Given the description of an element on the screen output the (x, y) to click on. 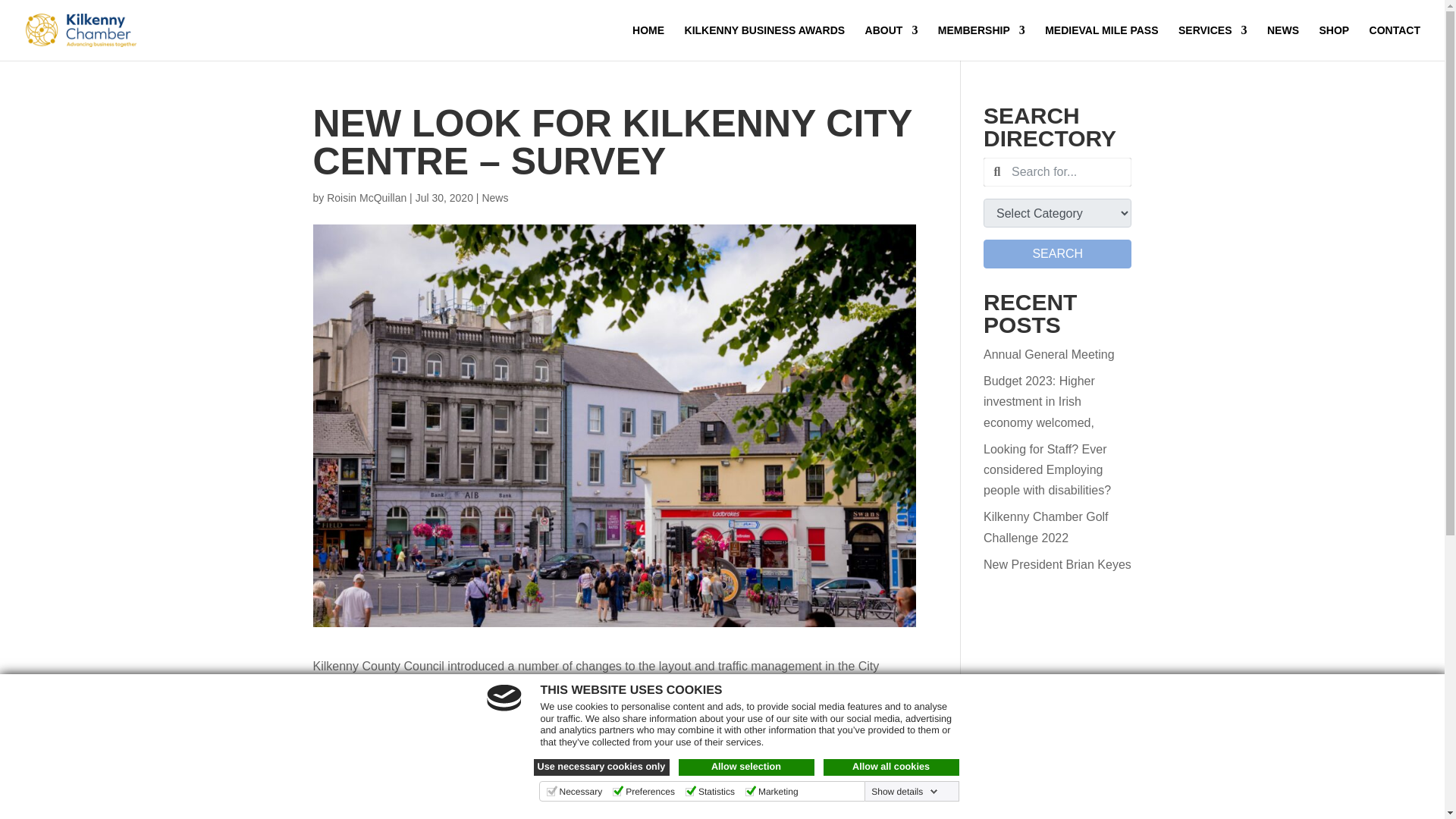
Allow all cookies (891, 767)
Use necessary cookies only (601, 767)
Allow selection (745, 767)
Show details (903, 791)
